Given the description of an element on the screen output the (x, y) to click on. 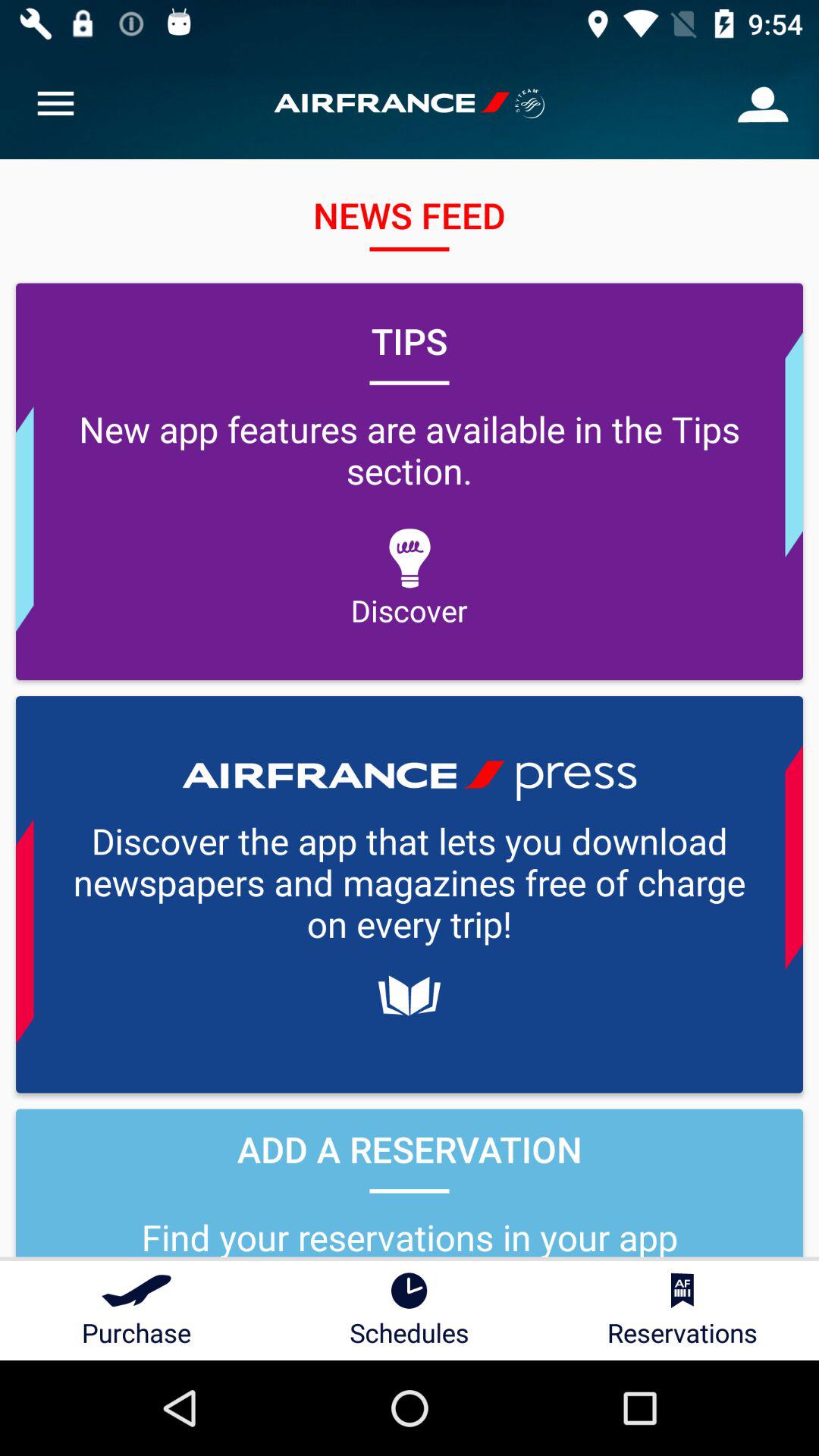
open item at the bottom left corner (136, 1310)
